Given the description of an element on the screen output the (x, y) to click on. 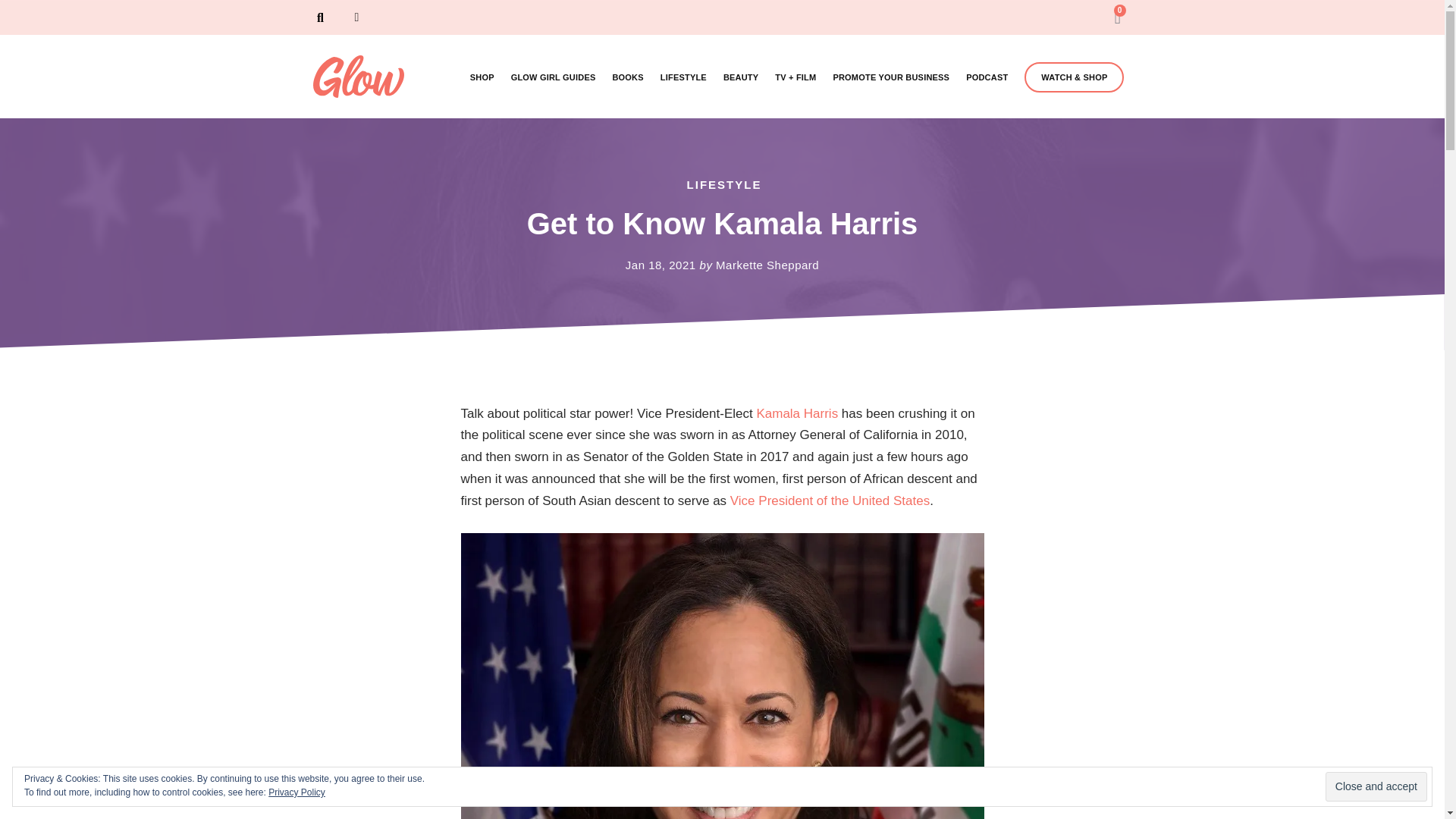
GLOW GIRL GUIDES (553, 77)
LIFESTYLE (683, 77)
PROMOTE YOUR BUSINESS (890, 77)
Close and accept (1375, 786)
BEAUTY (740, 77)
PODCAST (986, 77)
BOOKS (627, 77)
